Given the description of an element on the screen output the (x, y) to click on. 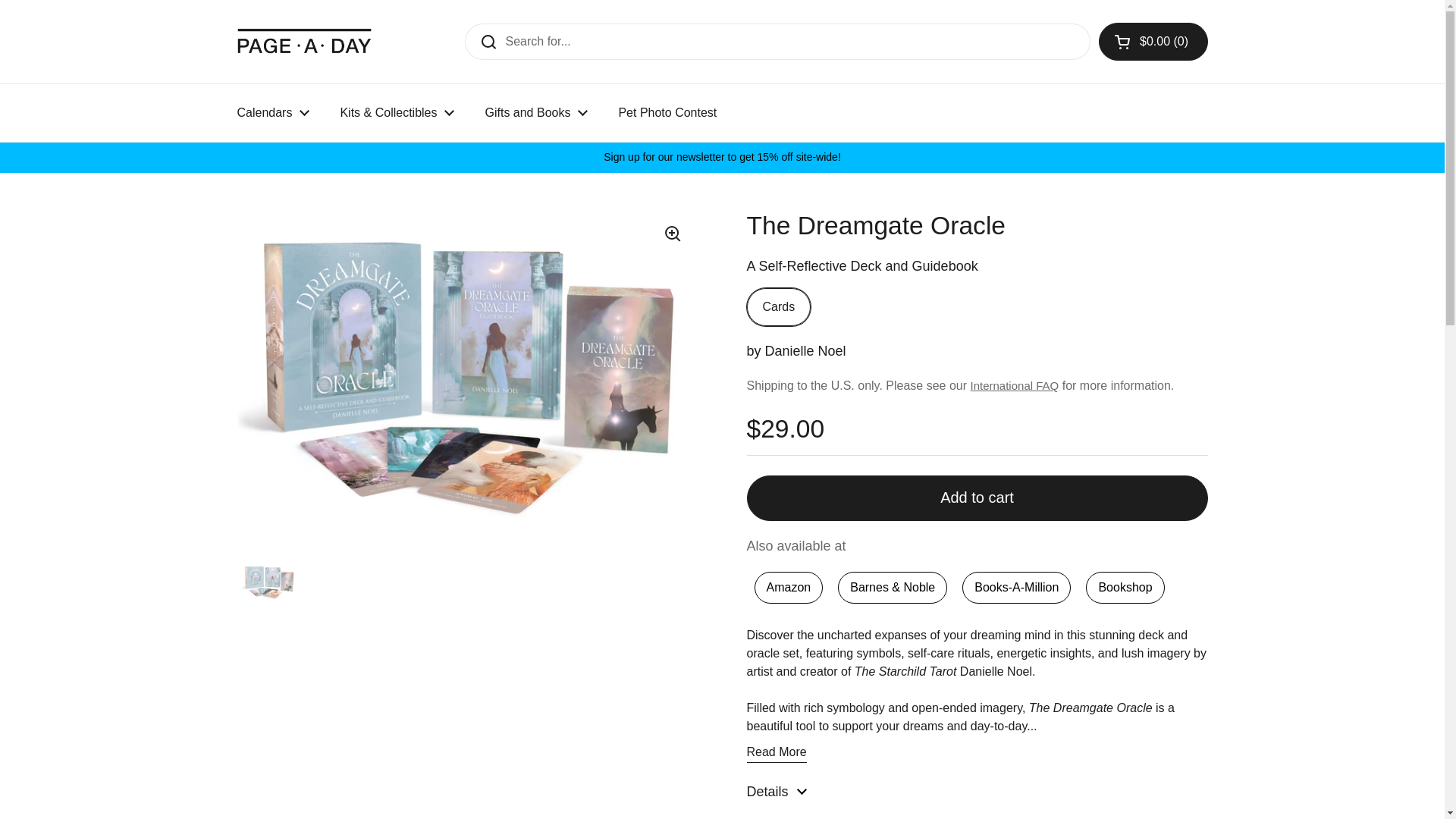
Calendars (272, 112)
Page-A-Day (303, 41)
Gifts and Books (535, 112)
Open cart (1153, 41)
